Given the description of an element on the screen output the (x, y) to click on. 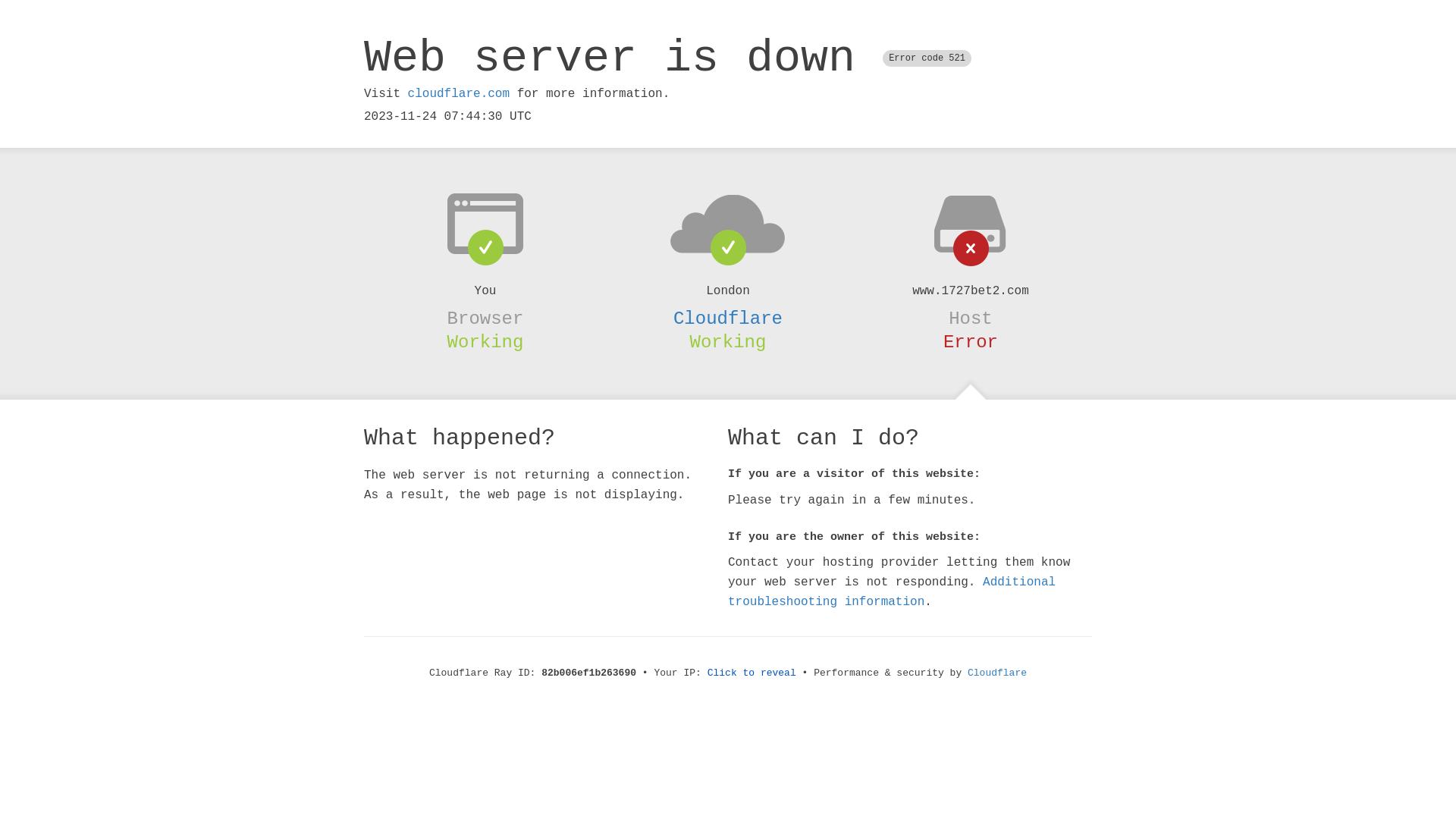
cloudflare.com Element type: text (458, 93)
Cloudflare Element type: text (727, 318)
Cloudflare Element type: text (996, 672)
Additional troubleshooting information Element type: text (891, 591)
Click to reveal Element type: text (751, 672)
